Given the description of an element on the screen output the (x, y) to click on. 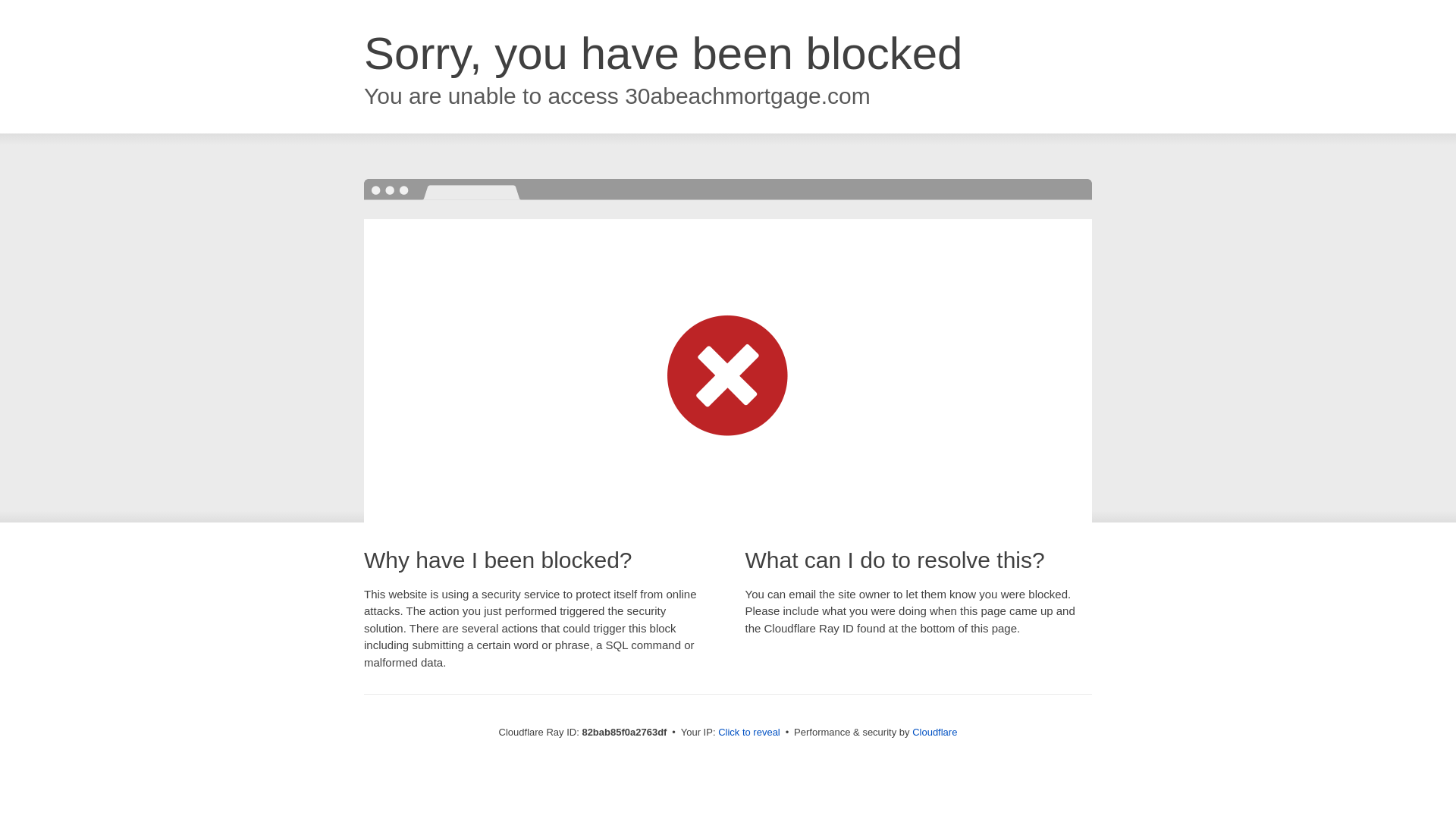
Cloudflare Element type: text (934, 731)
Click to reveal Element type: text (749, 732)
